Given the description of an element on the screen output the (x, y) to click on. 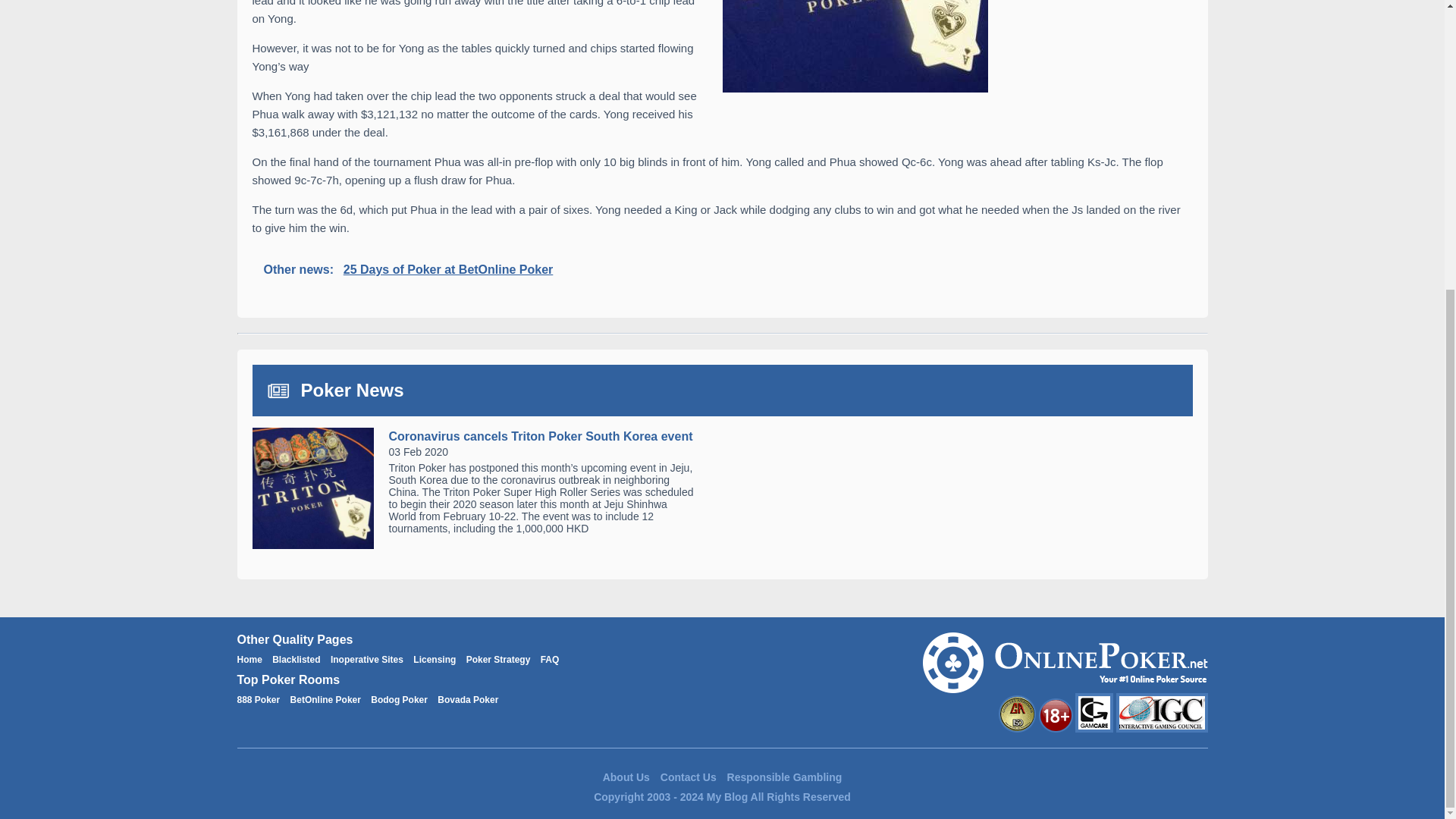
Inoperative Sites (366, 659)
Other news:   25 Days of Poker at BetOnline Poker (721, 269)
Coronavirus cancels Triton Poker South Korea event (540, 436)
Home (248, 659)
Blacklisted (296, 659)
